Given the description of an element on the screen output the (x, y) to click on. 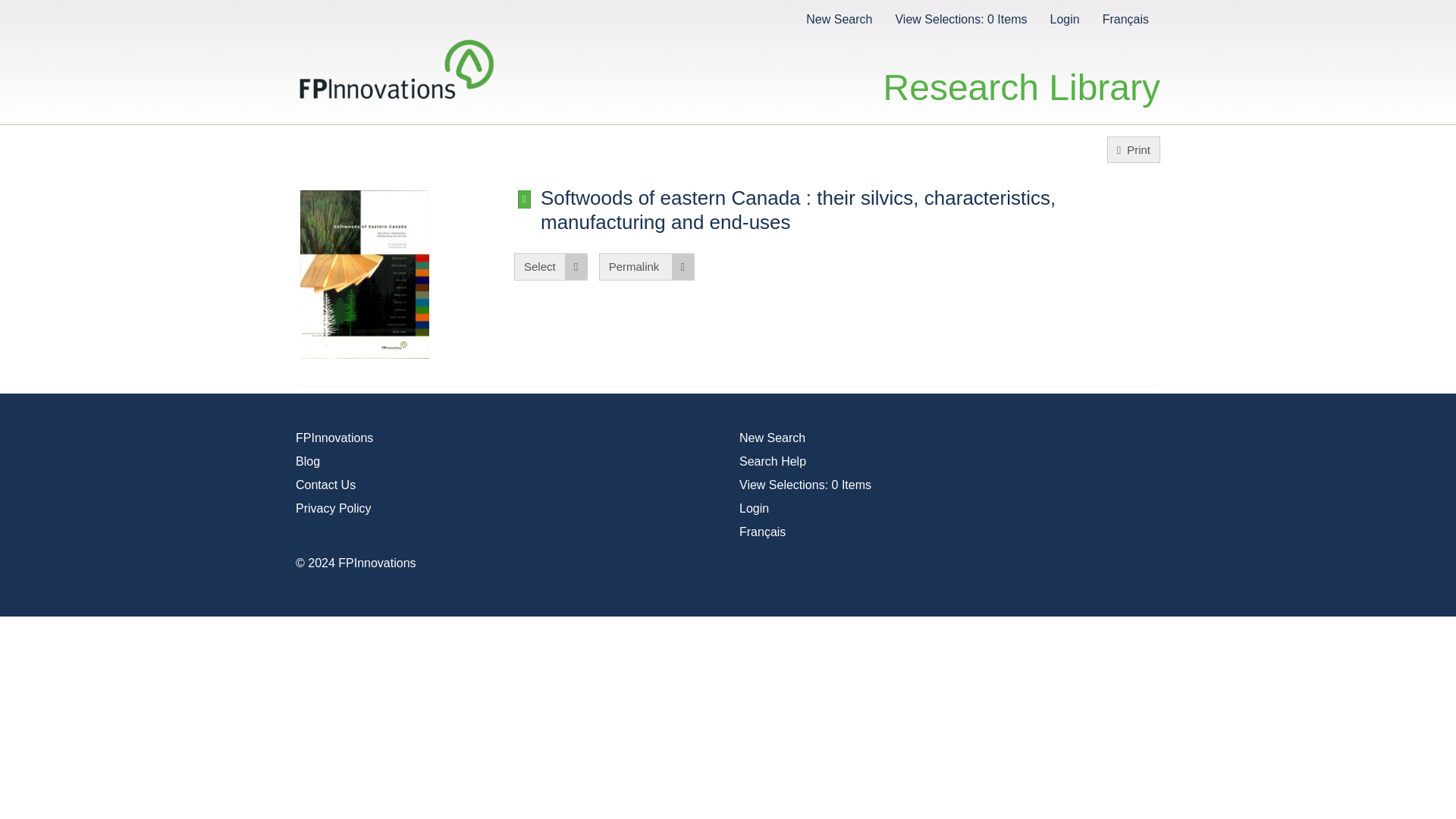
Permalink (646, 266)
Login (1064, 18)
New Search (838, 18)
Print (1133, 149)
View Selections: 0 Items (960, 18)
Research Library (1021, 71)
Select (550, 266)
Toggle Full Record (849, 209)
Permalink (646, 266)
FPInnovations (333, 437)
